Given the description of an element on the screen output the (x, y) to click on. 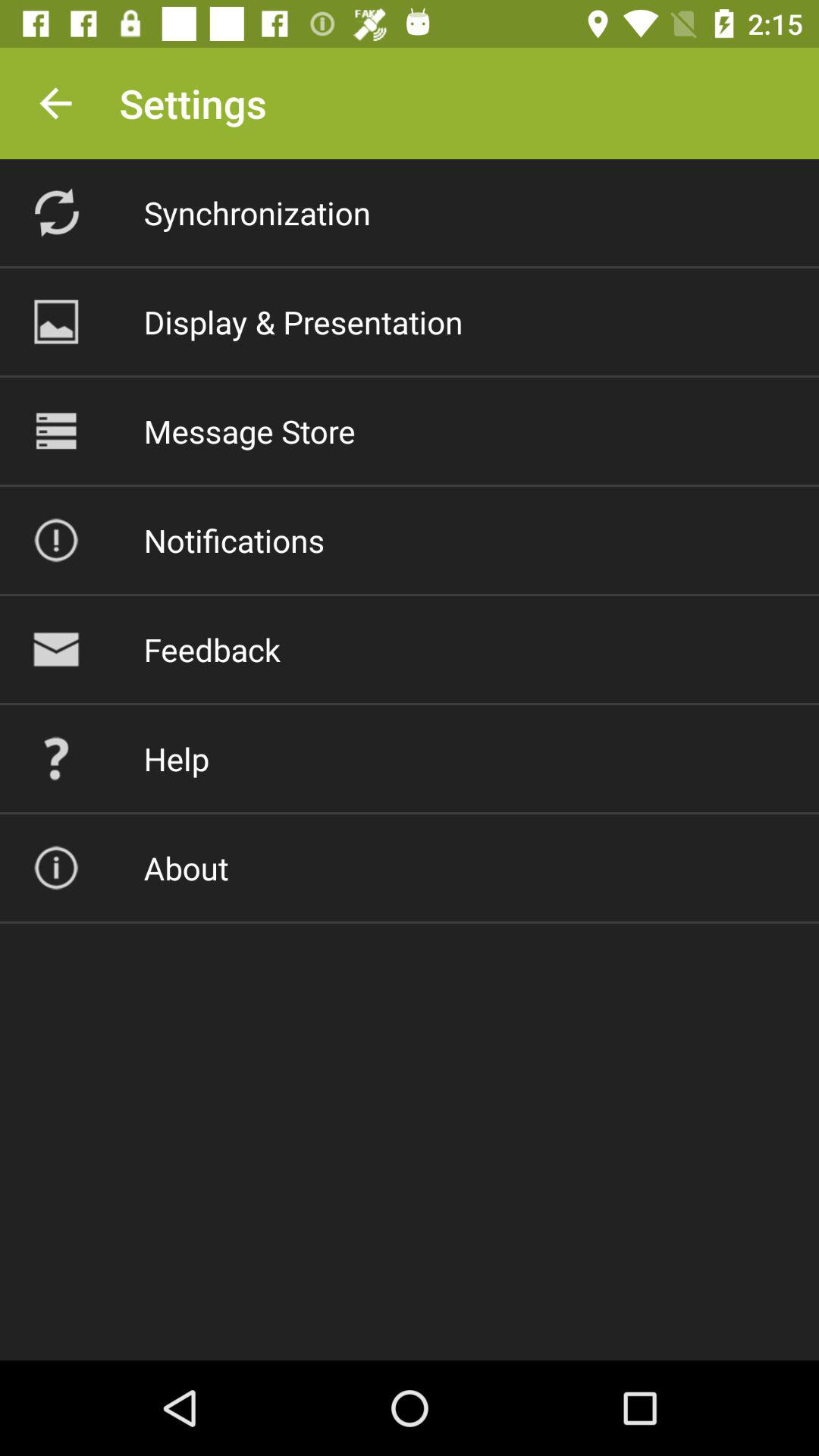
scroll until the about item (185, 867)
